Given the description of an element on the screen output the (x, y) to click on. 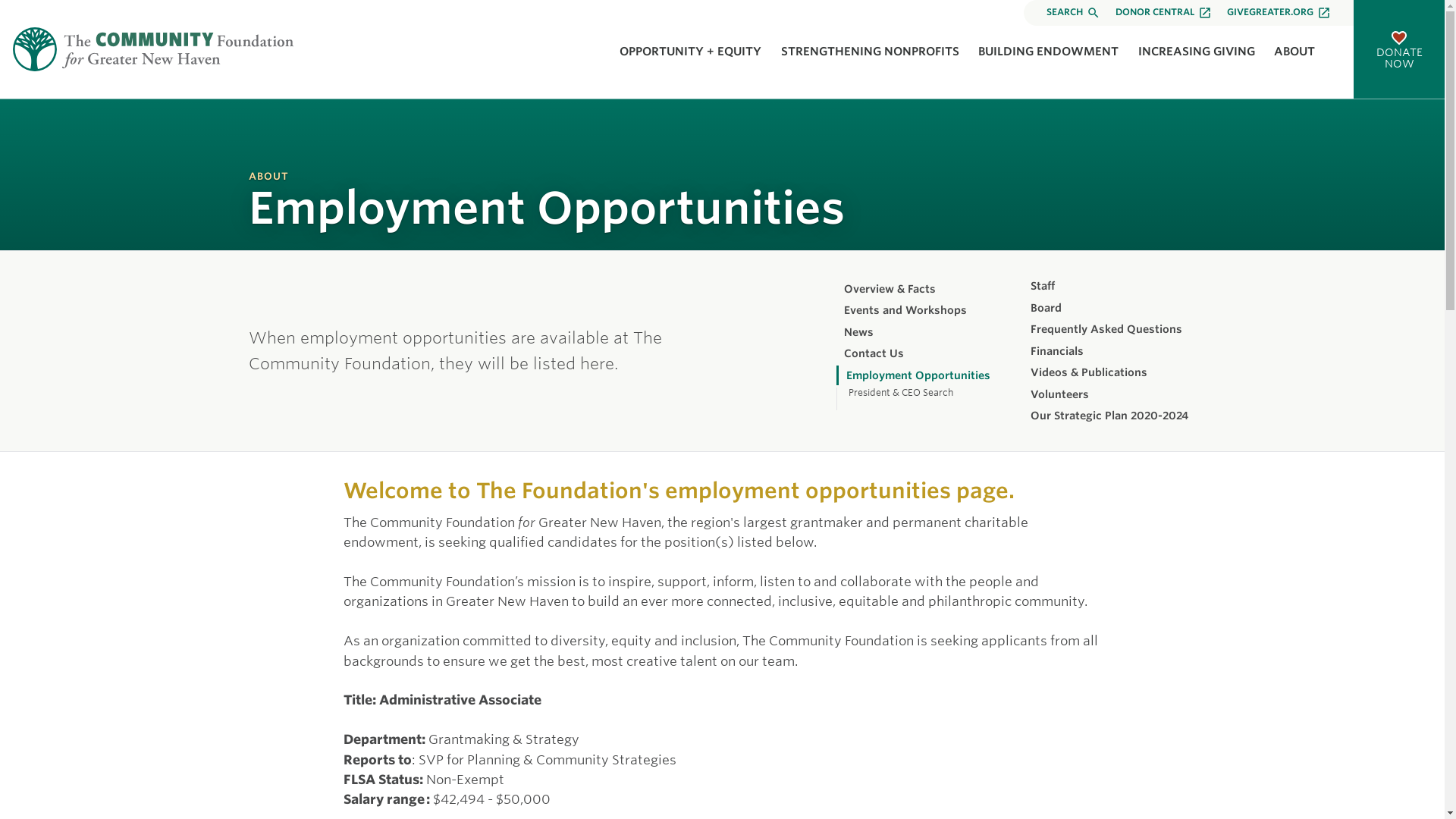
SEARCH (1073, 12)
GIVEGREATER.ORG (1278, 12)
DONOR CENTRAL (1163, 12)
STRENGTHENING NONPROFITS (869, 52)
